Given the description of an element on the screen output the (x, y) to click on. 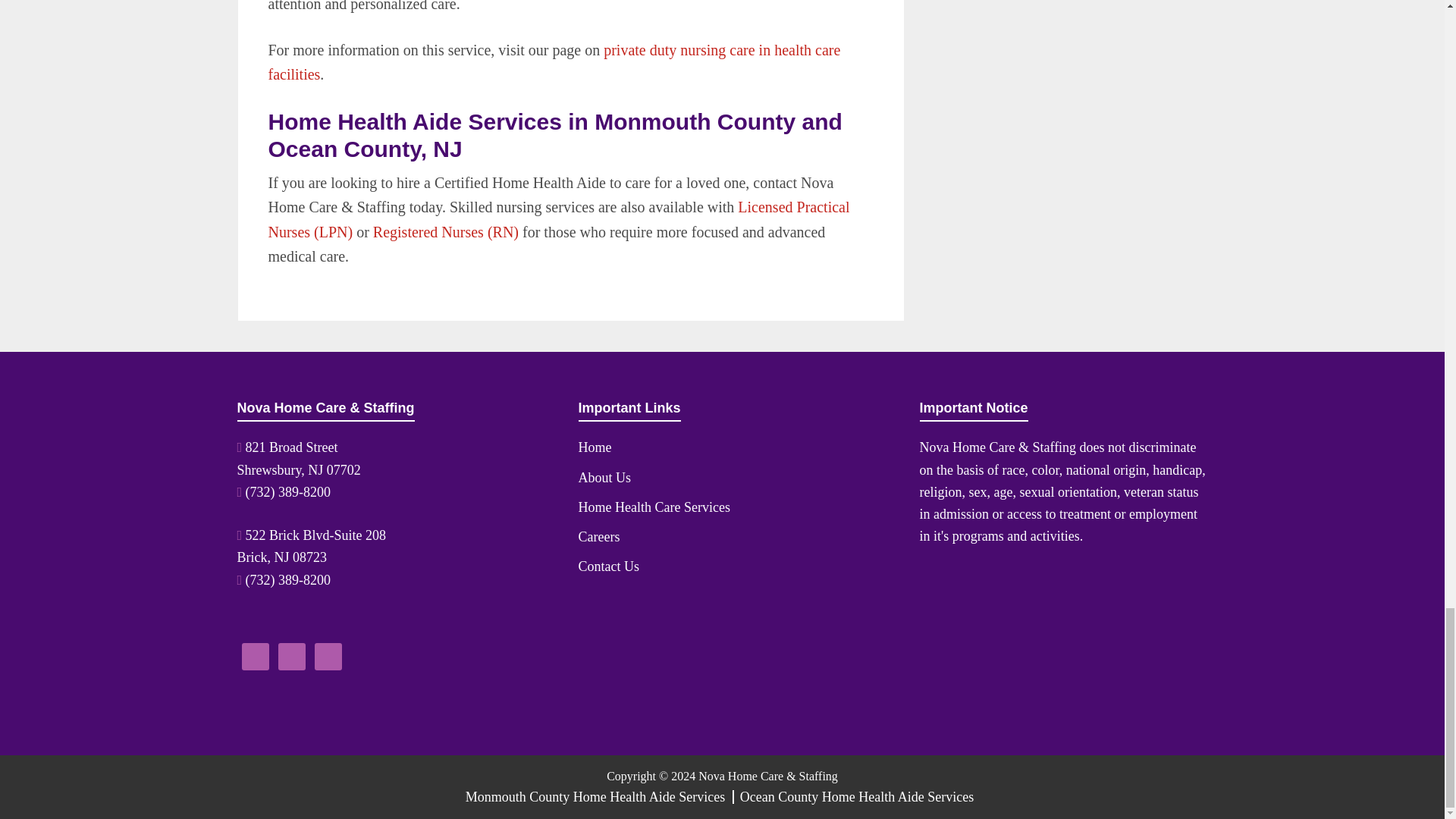
private duty nursing care in health care facilities (554, 62)
